Given the description of an element on the screen output the (x, y) to click on. 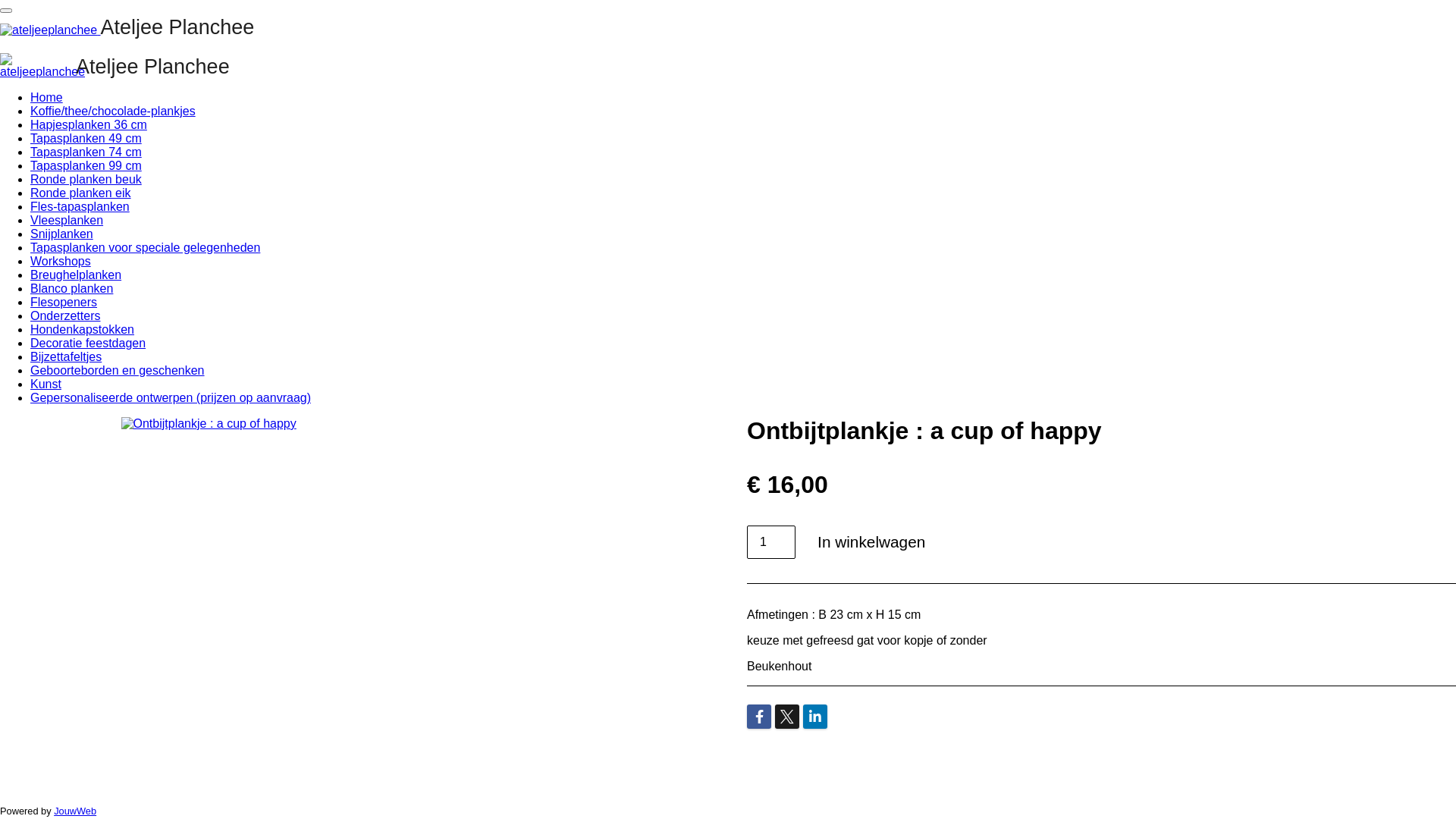
Breughelplanken Element type: text (75, 274)
ateljeeplanchee Element type: hover (48, 30)
Vleesplanken Element type: text (66, 219)
Hapjesplanken 36 cm Element type: text (88, 124)
Hondenkapstokken Element type: text (82, 329)
Onderzetters Element type: text (65, 315)
Kunst Element type: text (45, 383)
In winkelwagen Element type: text (871, 542)
Gepersonaliseerde ontwerpen (prijzen op aanvraag) Element type: text (170, 397)
Fles-tapasplanken Element type: text (79, 206)
Tapasplanken 99 cm Element type: text (85, 165)
Decoratie feestdagen Element type: text (87, 342)
Ronde planken beuk Element type: text (85, 178)
ateljeeplanchee Element type: hover (42, 65)
Workshops Element type: text (60, 260)
Ateljee Planchee Element type: text (152, 68)
Tapasplanken voor speciale gelegenheden Element type: text (145, 247)
Geboorteborden en geschenken Element type: text (117, 370)
Flesopeners Element type: text (63, 301)
JouwWeb Element type: text (74, 810)
Snijplanken Element type: text (61, 233)
Tapasplanken 74 cm Element type: text (85, 151)
Koffie/thee/chocolade-plankjes Element type: text (112, 110)
Ateljee Planchee Element type: text (127, 29)
Tapasplanken 49 cm Element type: text (85, 137)
Home Element type: text (46, 97)
Ronde planken eik Element type: text (80, 192)
Blanco planken Element type: text (71, 288)
Bijzettafeltjes Element type: text (65, 356)
